Given the description of an element on the screen output the (x, y) to click on. 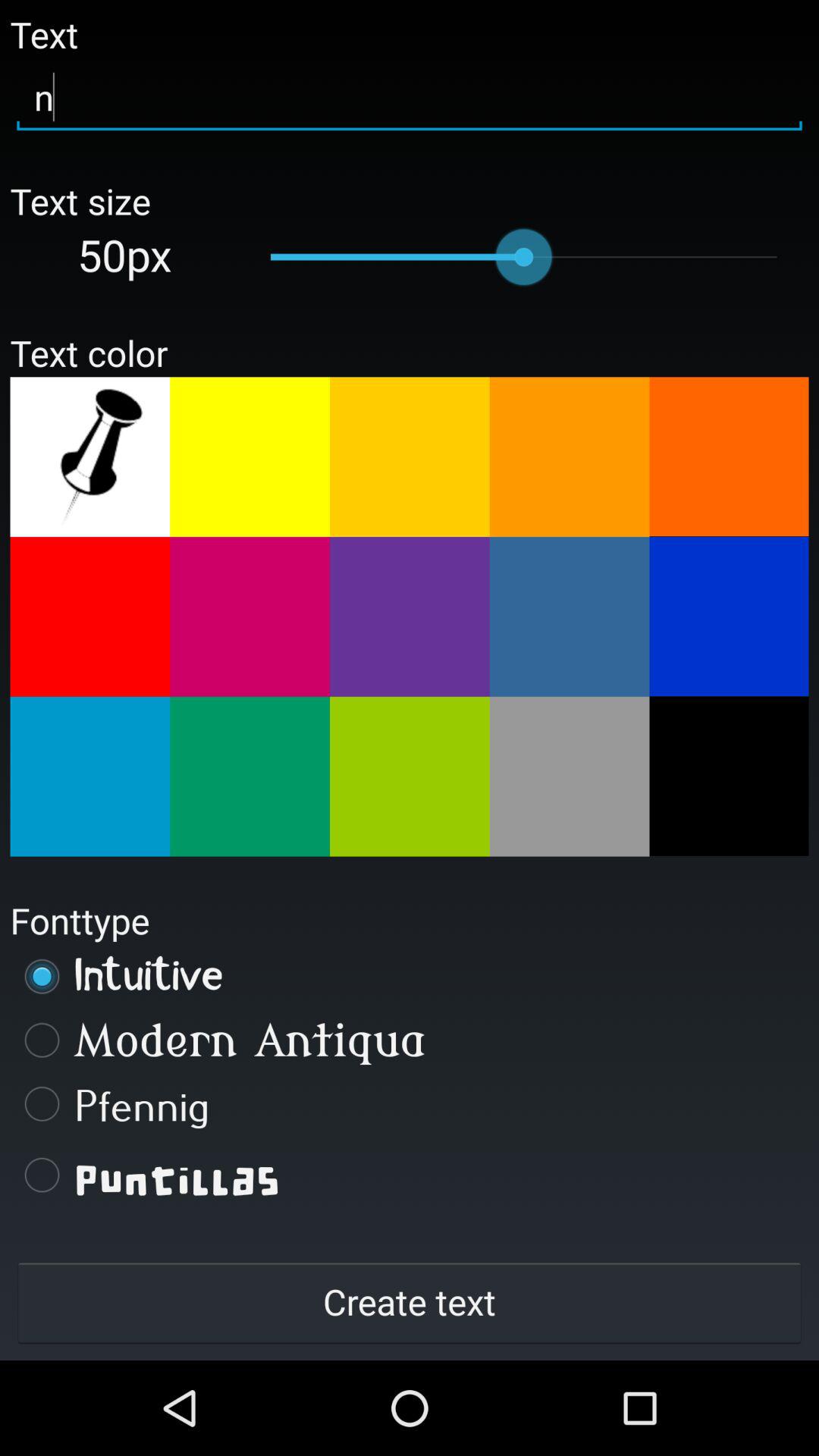
pin color (90, 456)
